Given the description of an element on the screen output the (x, y) to click on. 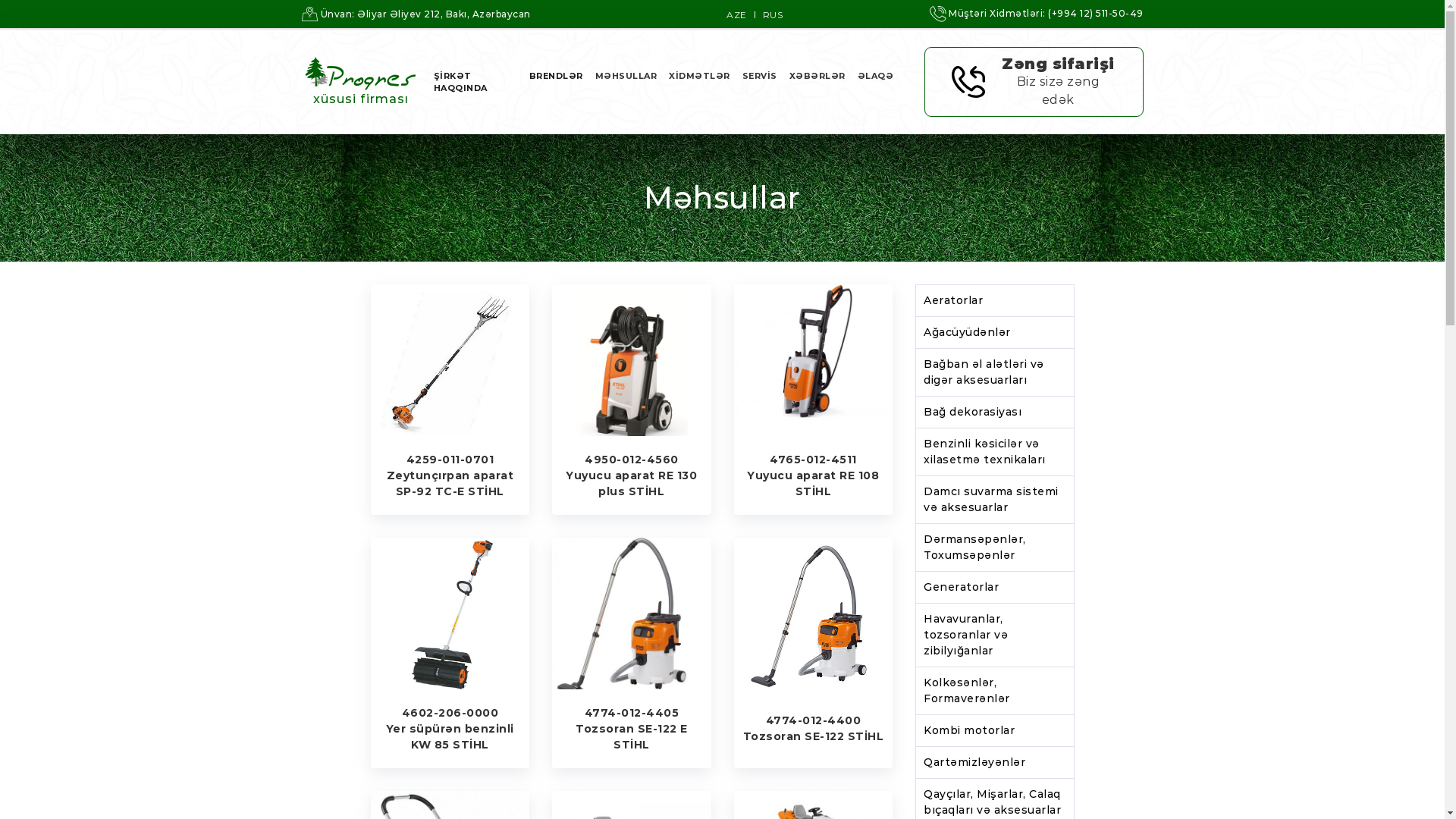
RUS Element type: text (775, 14)
Kombi motorlar Element type: text (994, 730)
AZE Element type: text (740, 14)
Generatorlar Element type: text (994, 586)
Aeratorlar Element type: text (994, 300)
